Given the description of an element on the screen output the (x, y) to click on. 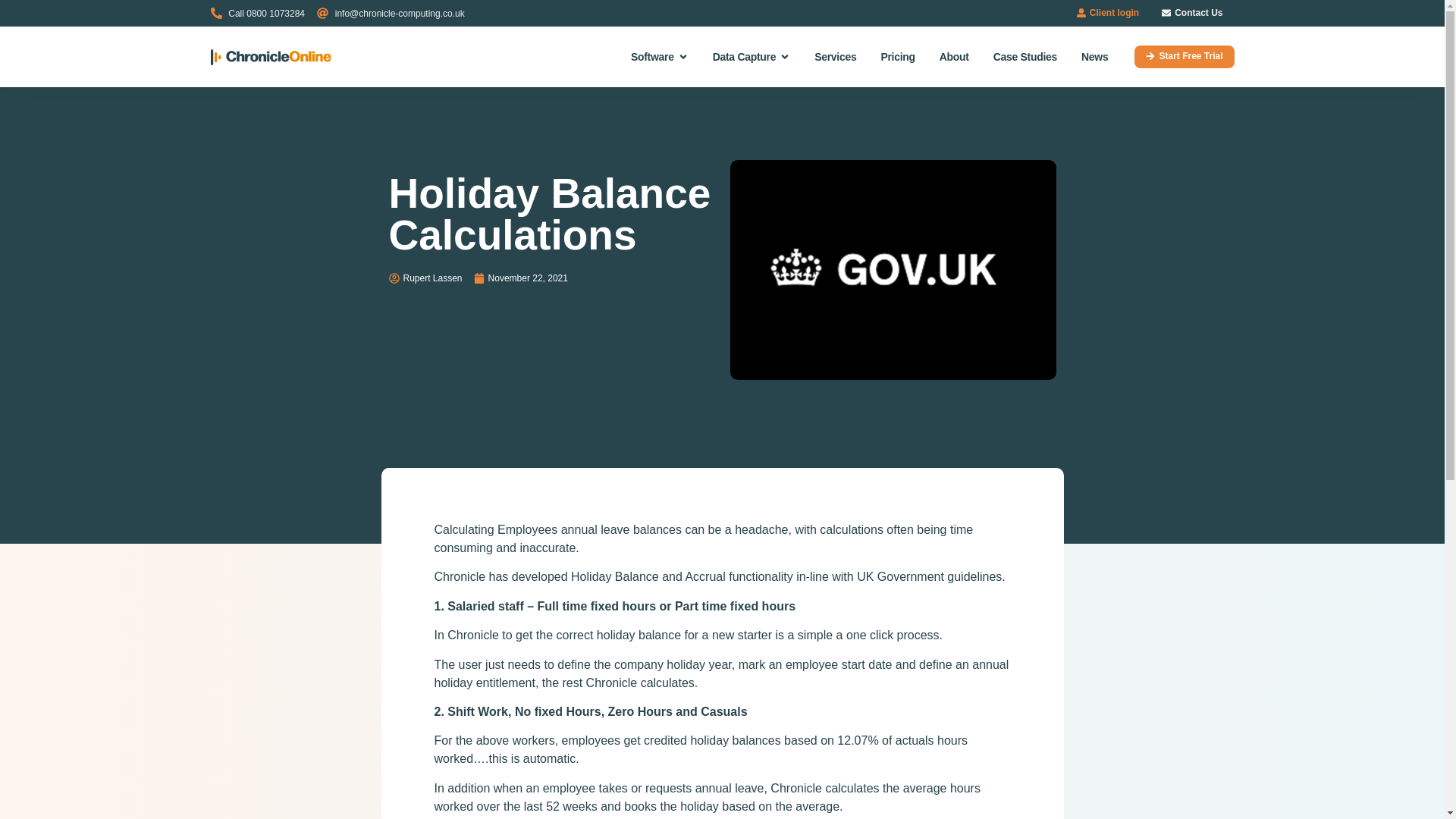
About (954, 56)
Case Studies (1024, 56)
Pricing (897, 56)
Client login (1107, 12)
Call 0800 1073284 (258, 12)
Contact Us (1191, 12)
Services (834, 56)
News (1094, 56)
